Given the description of an element on the screen output the (x, y) to click on. 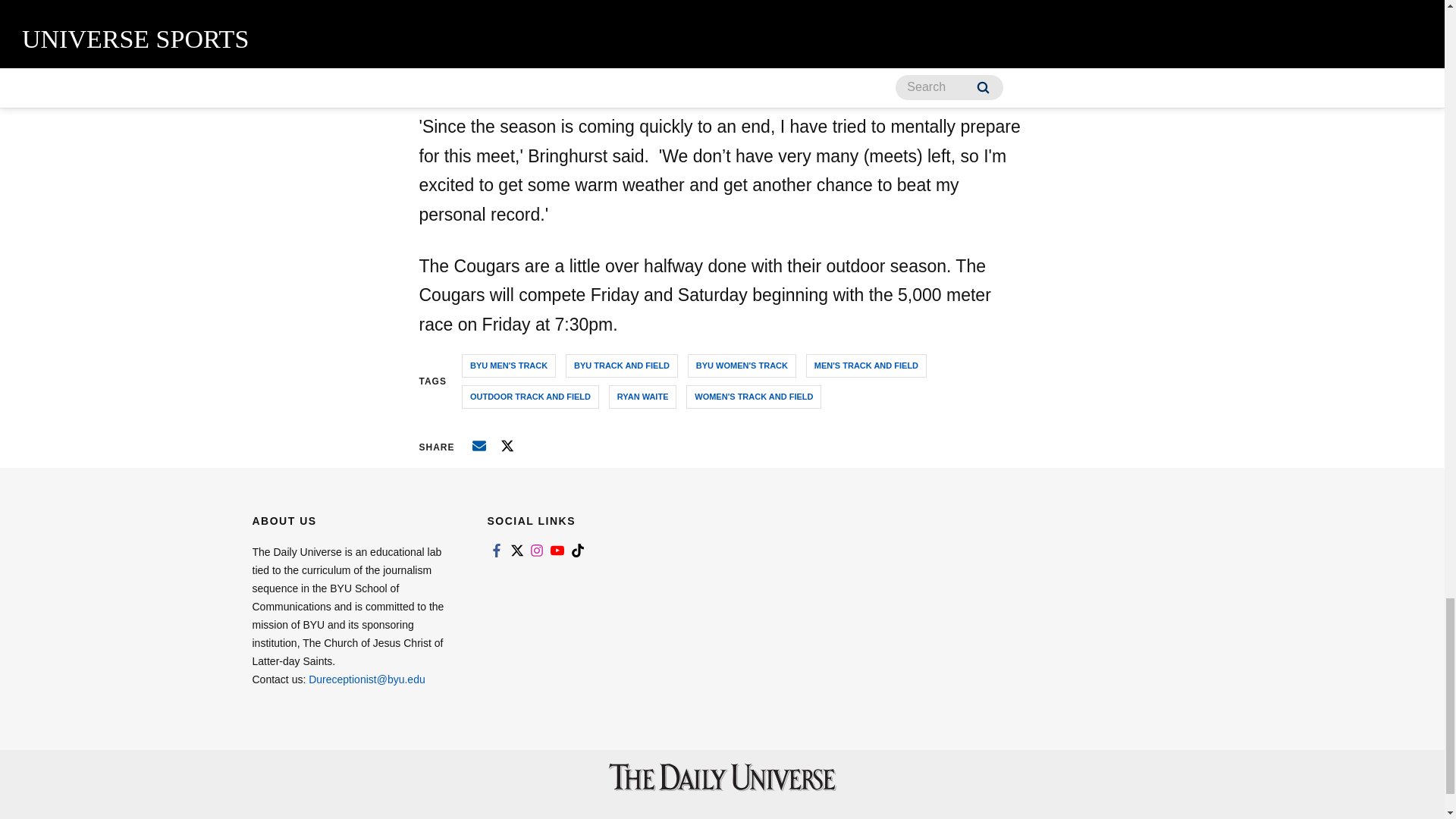
Link to youtube (557, 550)
Link to twitter (515, 550)
Email (478, 445)
Link to instagram (536, 550)
Link to facebook (495, 550)
RYAN WAITE (642, 396)
BYU MEN'S TRACK (508, 365)
MEN'S TRACK AND FIELD (866, 365)
BYU TRACK AND FIELD (622, 365)
BYU WOMEN'S TRACK (741, 365)
